Given the description of an element on the screen output the (x, y) to click on. 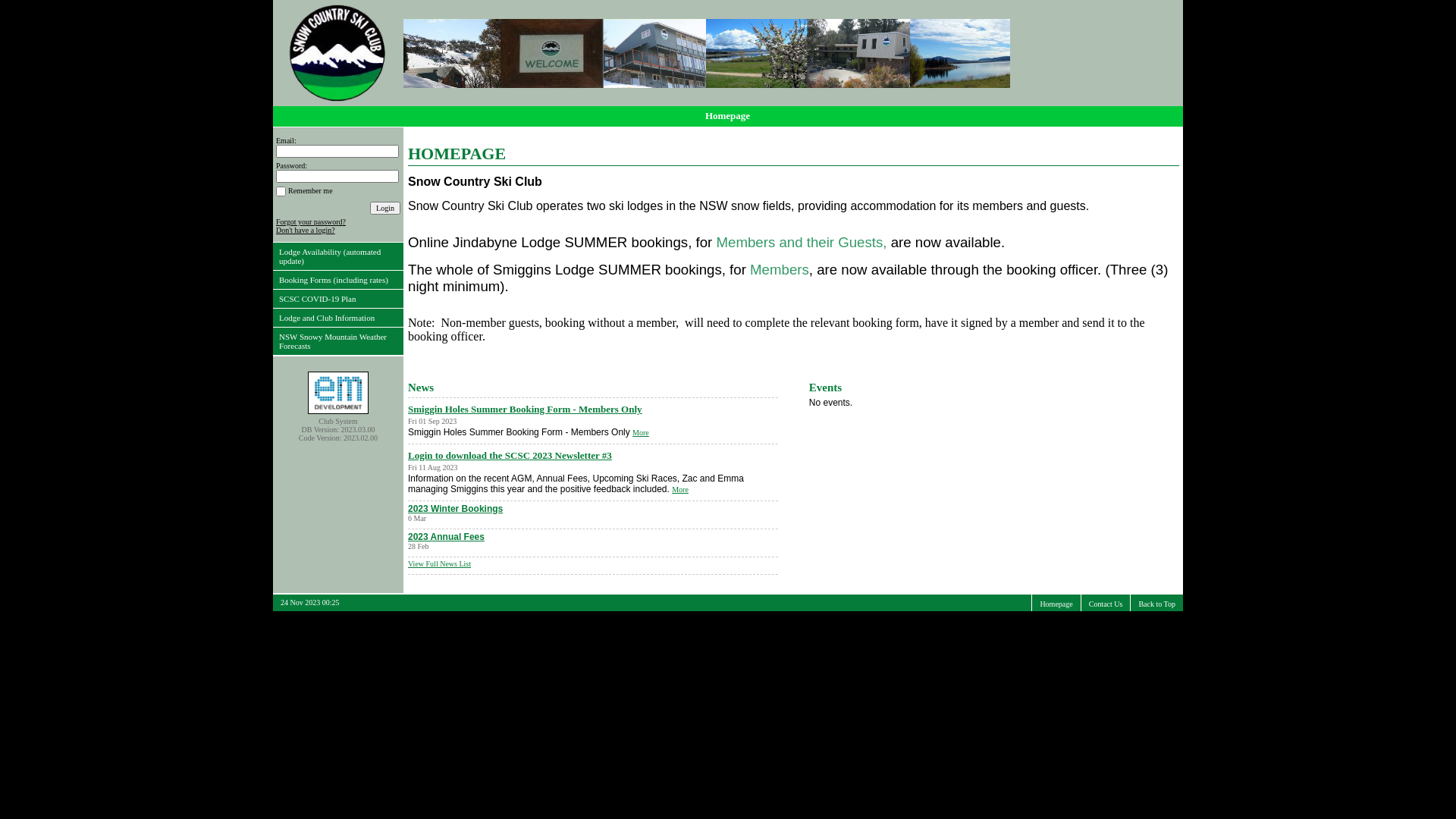
Lodge Availability (automated update) Element type: text (338, 255)
Back to Top Element type: text (1156, 603)
More Element type: text (679, 489)
NSW Snowy Mountain Weather Forecasts Element type: text (338, 340)
Homepage Element type: text (1055, 603)
Smiggin Holes Summer Booking Form - Members Only Element type: text (592, 409)
2023 Annual Fees Element type: text (445, 536)
Homepage Element type: text (728, 116)
Booking Forms (including rates) Element type: text (338, 278)
2023 Winter Bookings Element type: text (454, 508)
Don't have a login? Element type: text (305, 229)
Login Element type: text (385, 207)
More Element type: text (640, 432)
SCSC COVID-19 Plan Element type: text (338, 297)
Login to download the SCSC 2023 Newsletter #3 Element type: text (592, 455)
View Full News List Element type: text (438, 563)
Forgot your password? Element type: text (310, 221)
Contact Us Element type: text (1105, 603)
Lodge and Club Information Element type: text (338, 316)
